Given the description of an element on the screen output the (x, y) to click on. 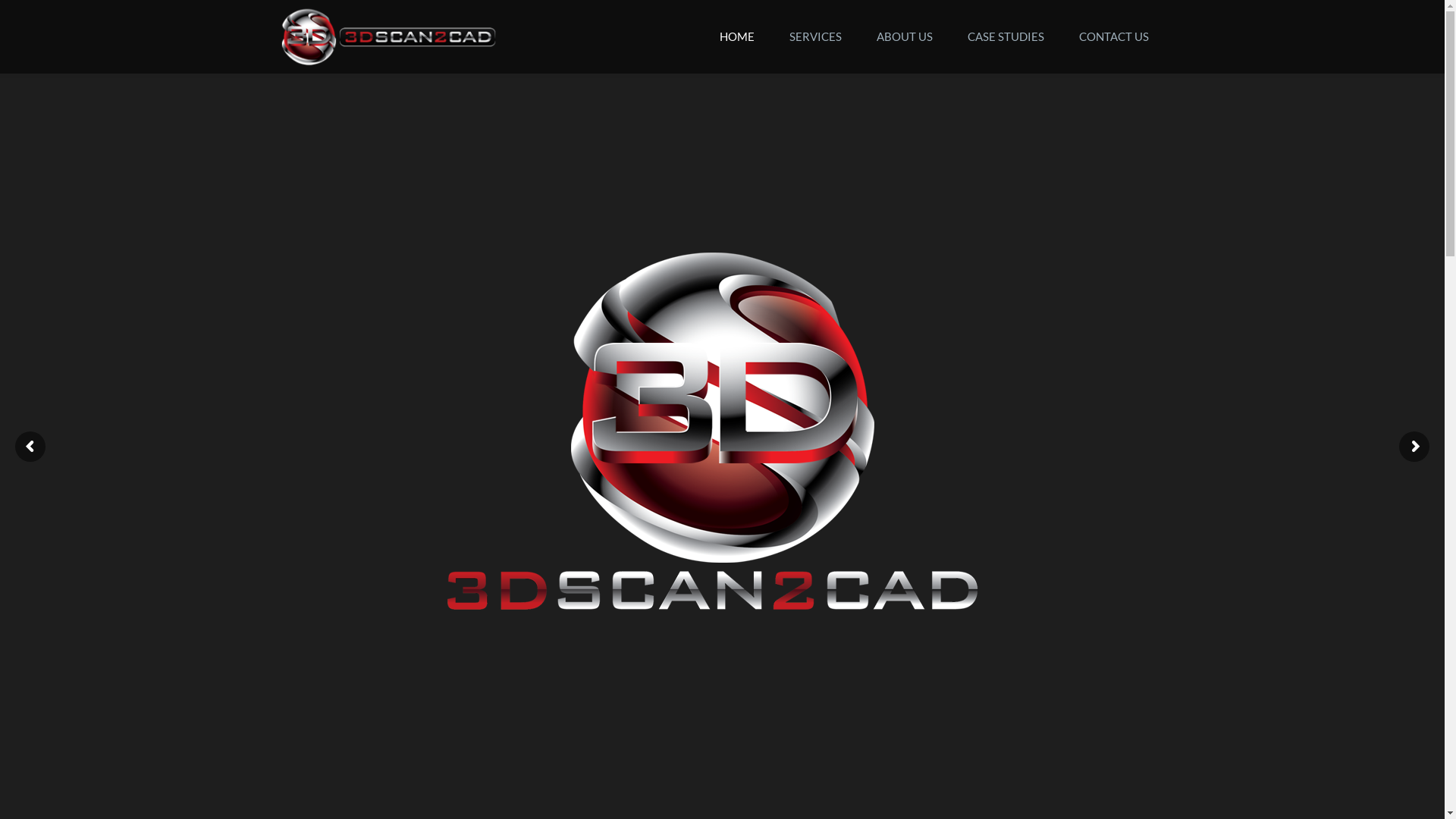
CONTACT US Element type: text (1113, 36)
HOME Element type: text (736, 36)
SERVICES Element type: text (815, 36)
ABOUT US Element type: text (903, 36)
CASE STUDIES Element type: text (1004, 36)
3DScan2CAD Element type: hover (388, 34)
